Given the description of an element on the screen output the (x, y) to click on. 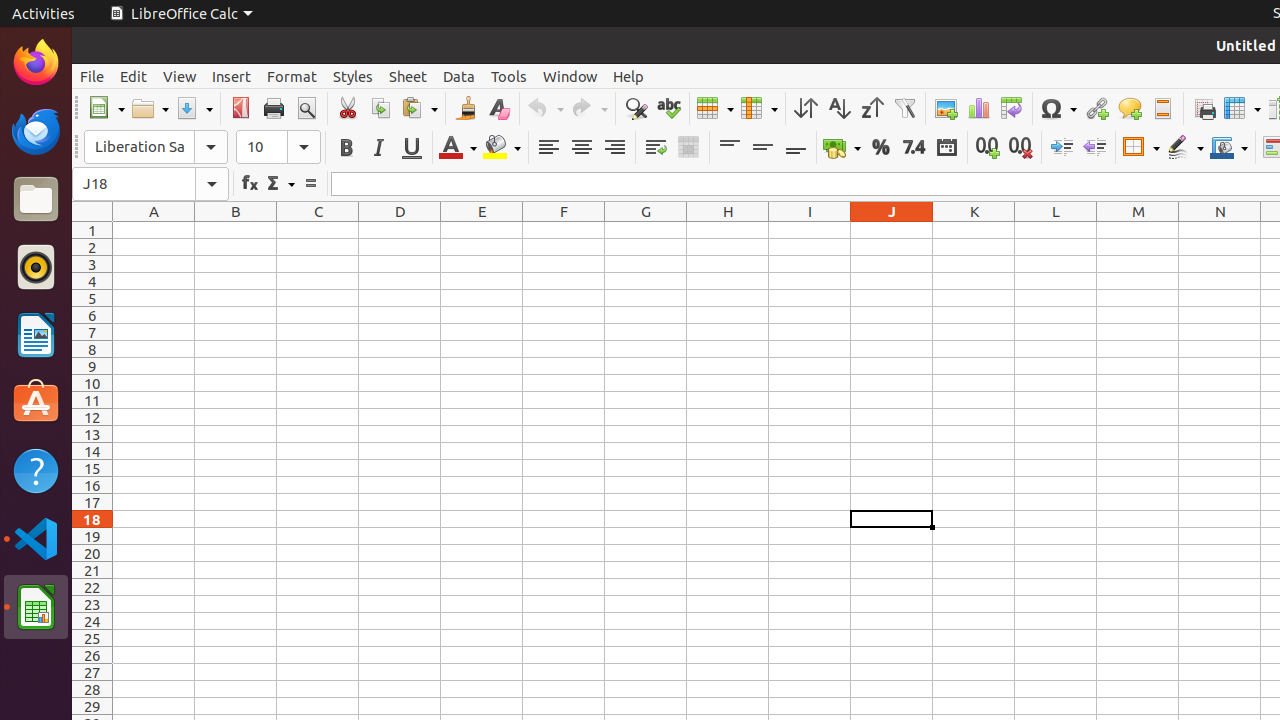
E1 Element type: table-cell (482, 230)
Print Preview Element type: toggle-button (306, 108)
J1 Element type: table-cell (892, 230)
Wrap Text Element type: push-button (655, 147)
Window Element type: menu (570, 76)
